Given the description of an element on the screen output the (x, y) to click on. 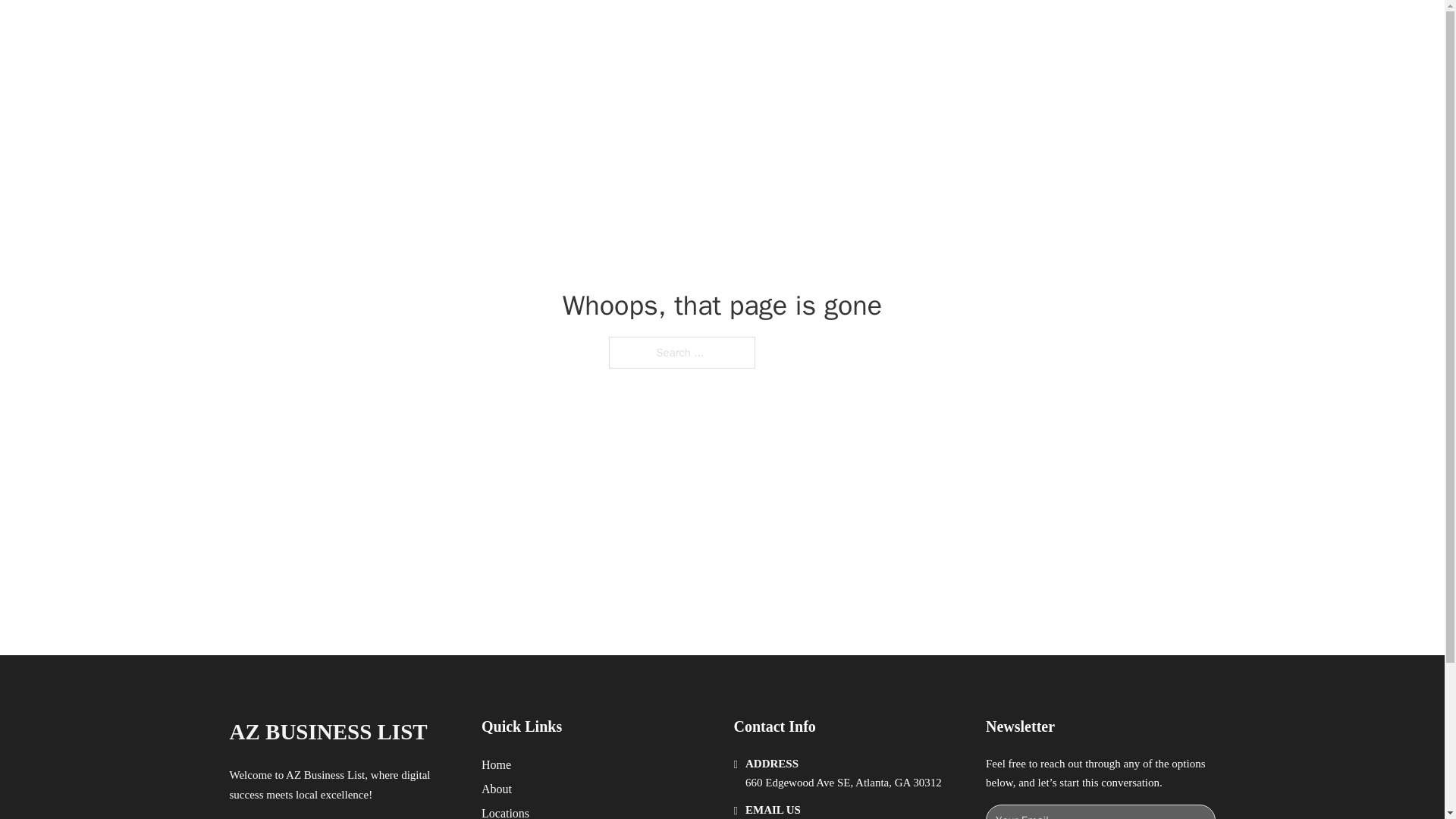
AZ BUSINESS LIST (327, 732)
HOME (919, 29)
LOCATIONS (990, 29)
About (496, 788)
AZ BUSINESS LIST (403, 28)
Home (496, 764)
Locations (505, 811)
